Given the description of an element on the screen output the (x, y) to click on. 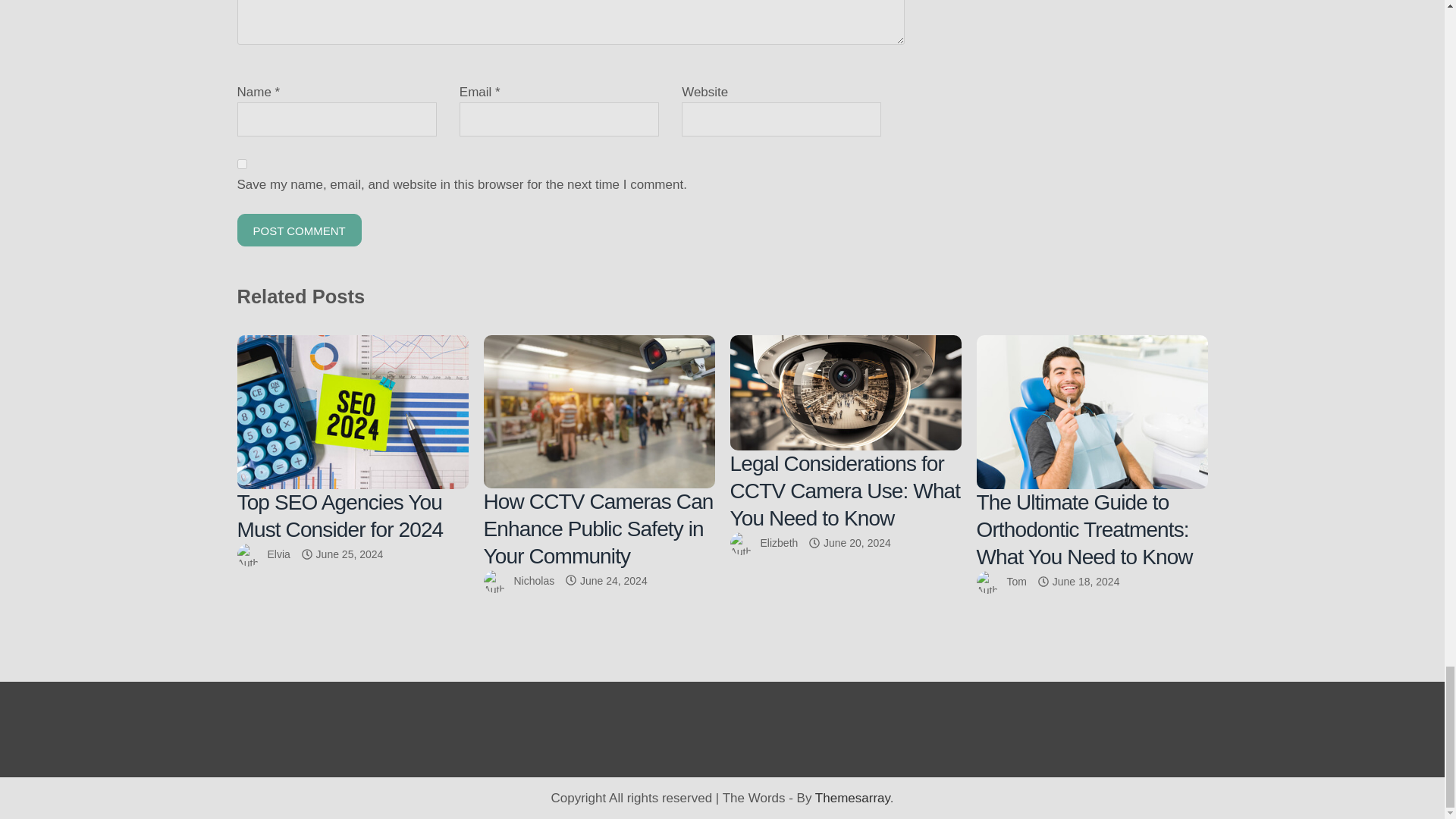
Top SEO Agencies You Must Consider for 2024 (351, 411)
How CCTV Cameras Can Enhance Public Safety in Your Community (598, 411)
yes (240, 163)
Post Comment (298, 229)
